Given the description of an element on the screen output the (x, y) to click on. 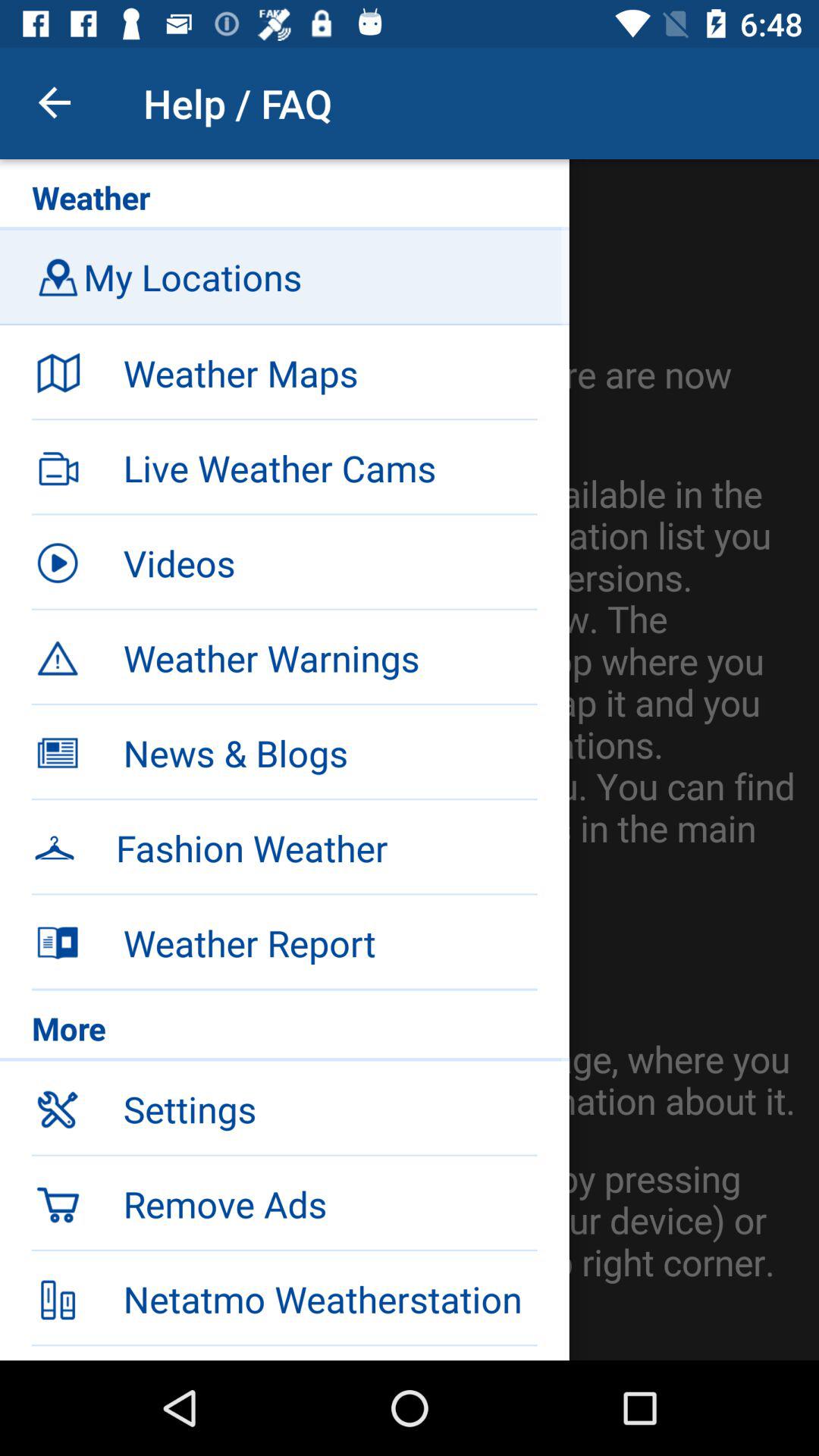
turn on the weather warnings (330, 657)
